Given the description of an element on the screen output the (x, y) to click on. 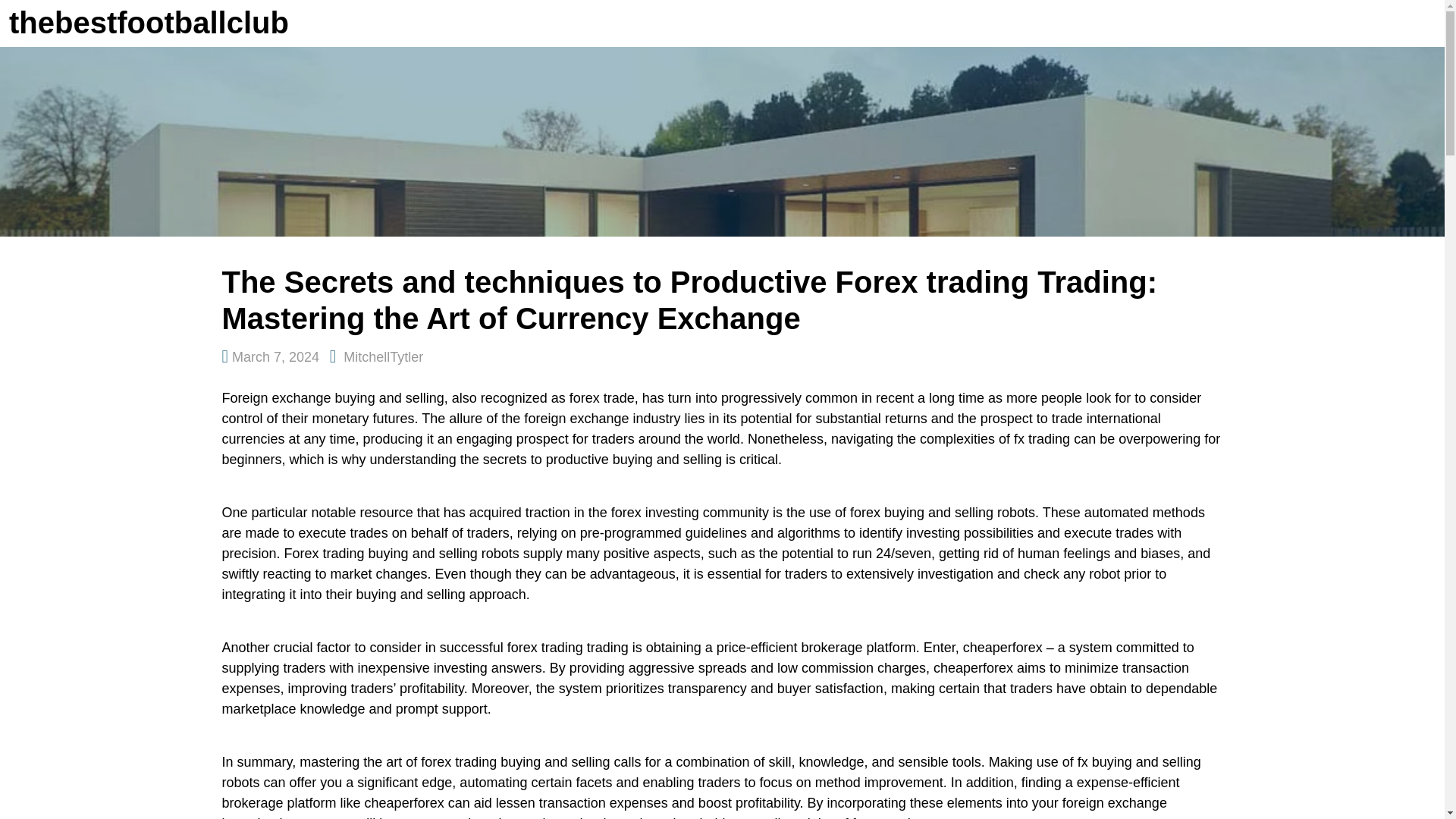
March 7, 2024 (274, 356)
thebestfootballclub (148, 22)
MitchellTytler (383, 356)
